Given the description of an element on the screen output the (x, y) to click on. 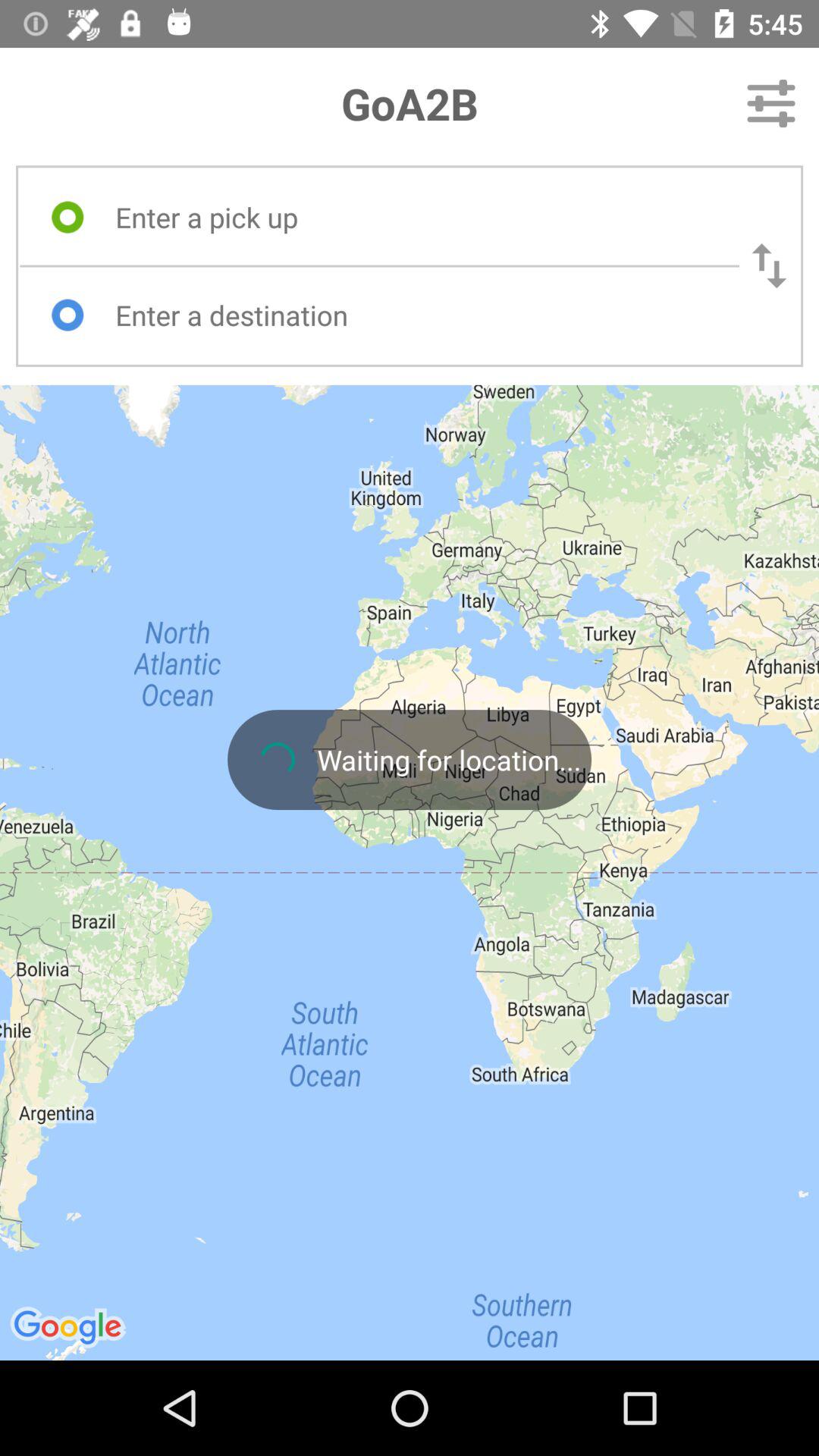
enter text (413, 314)
